Given the description of an element on the screen output the (x, y) to click on. 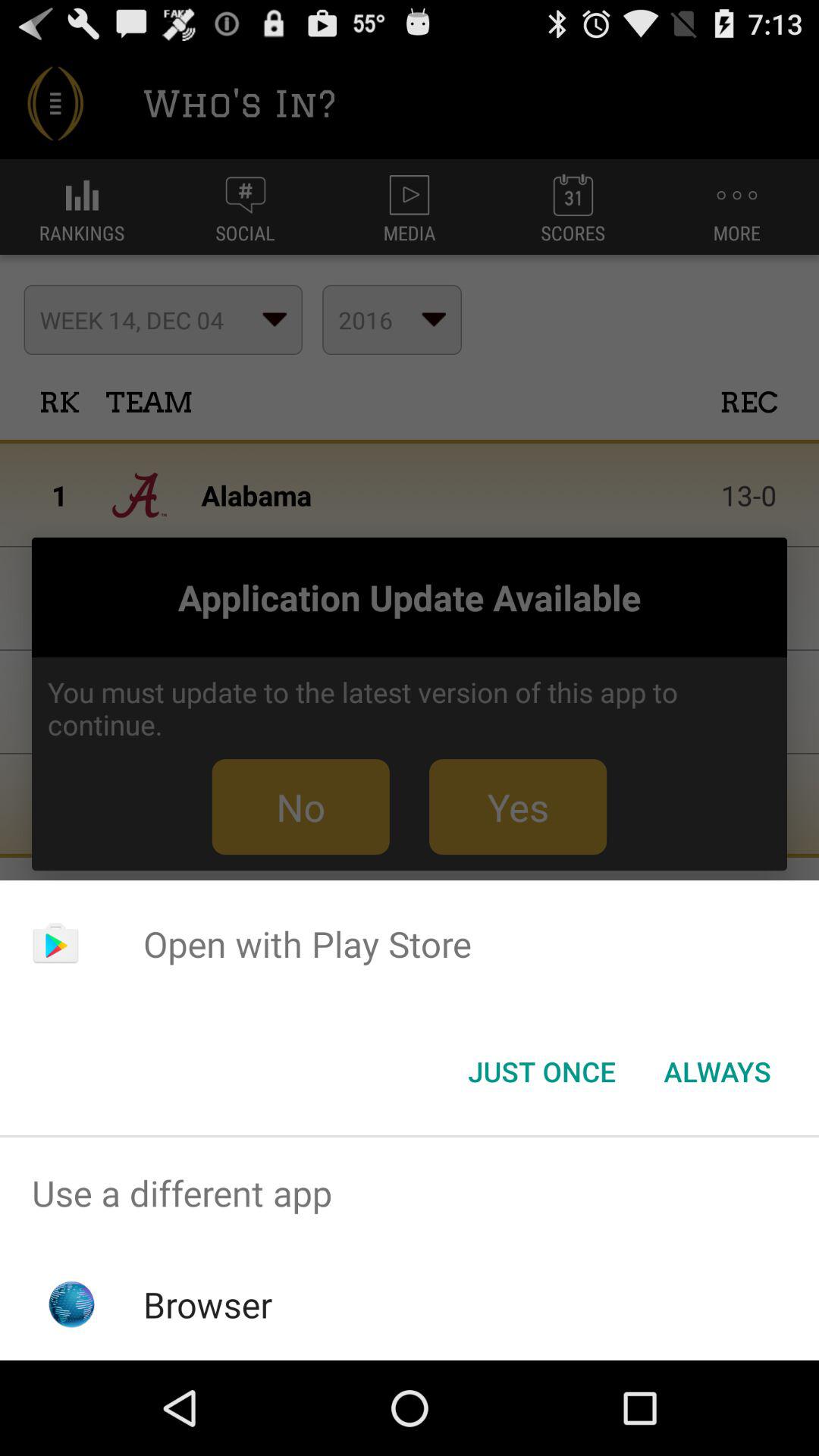
launch button next to the always item (541, 1071)
